Given the description of an element on the screen output the (x, y) to click on. 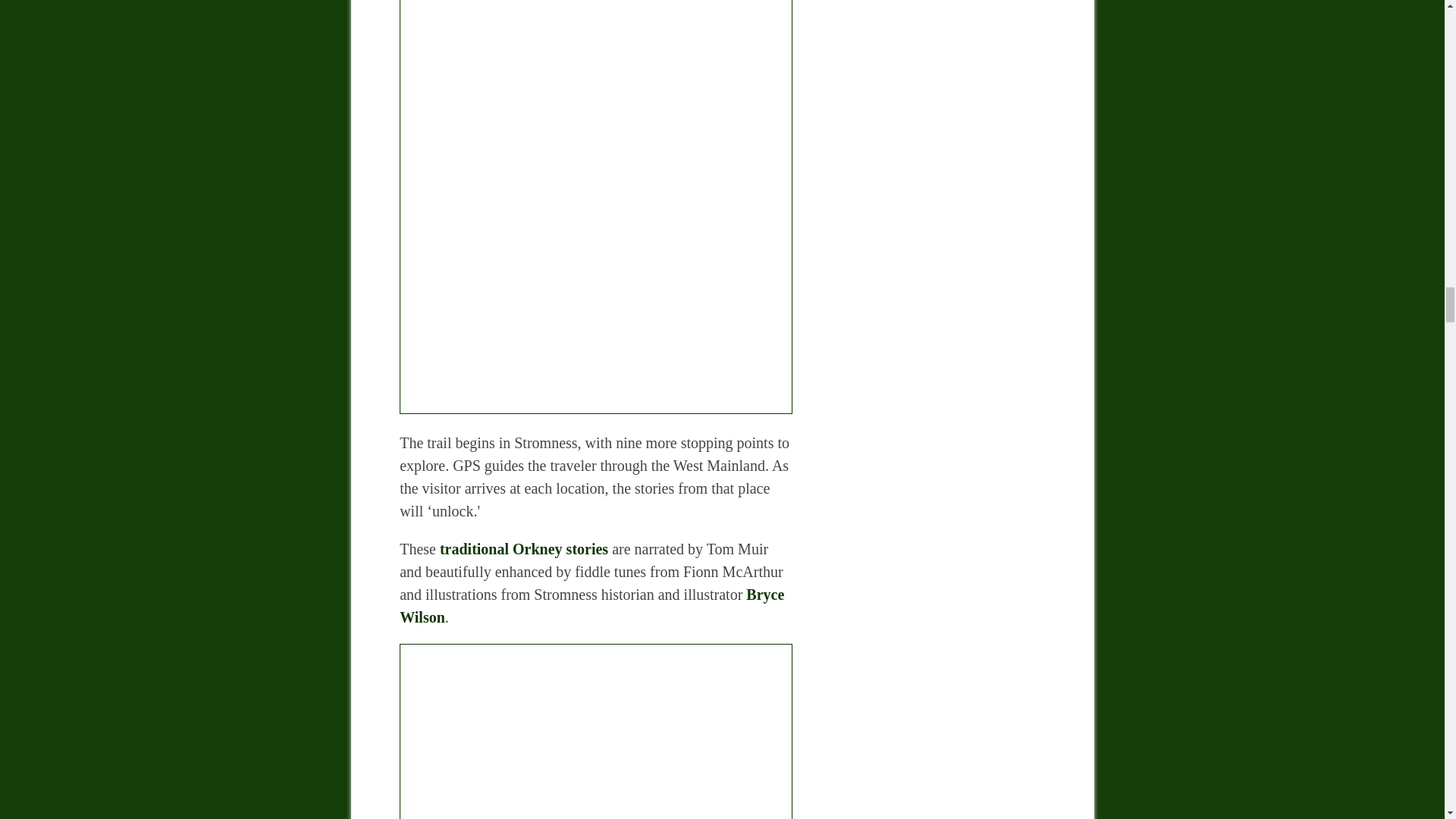
traditional Orkney stories (523, 548)
Meashowe from the back side (595, 731)
Bryce Wilson (591, 605)
